Given the description of an element on the screen output the (x, y) to click on. 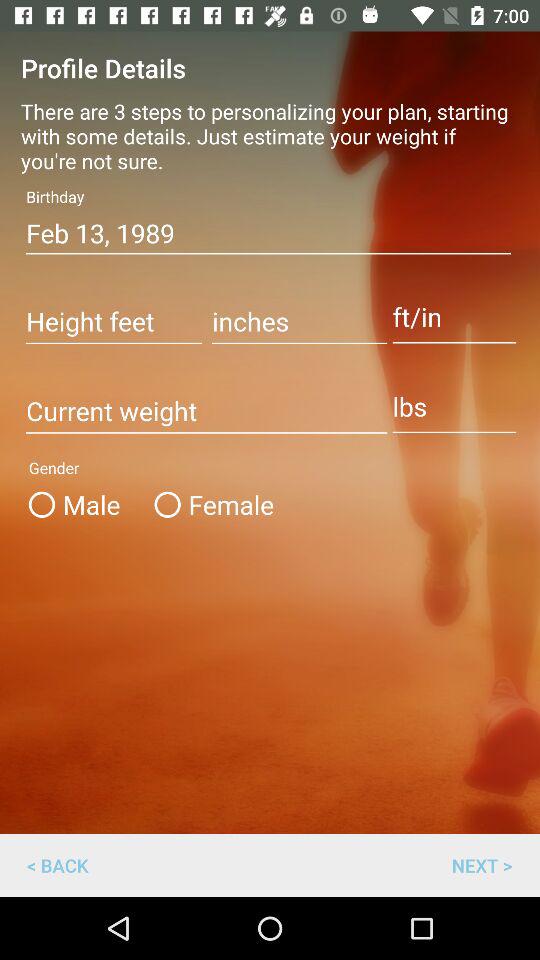
open item to the left of lbs (206, 412)
